Given the description of an element on the screen output the (x, y) to click on. 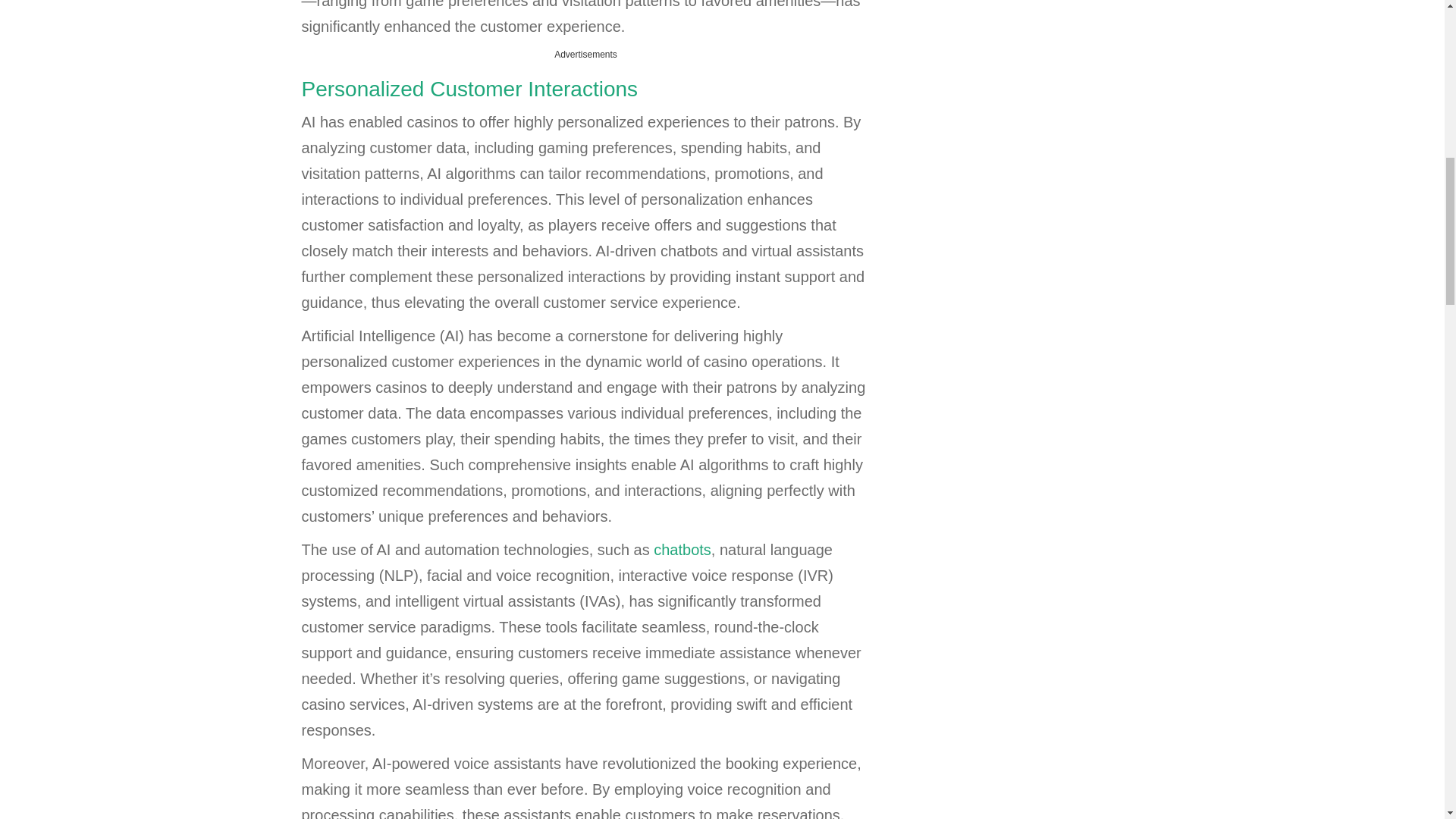
chatbots (682, 549)
